Given the description of an element on the screen output the (x, y) to click on. 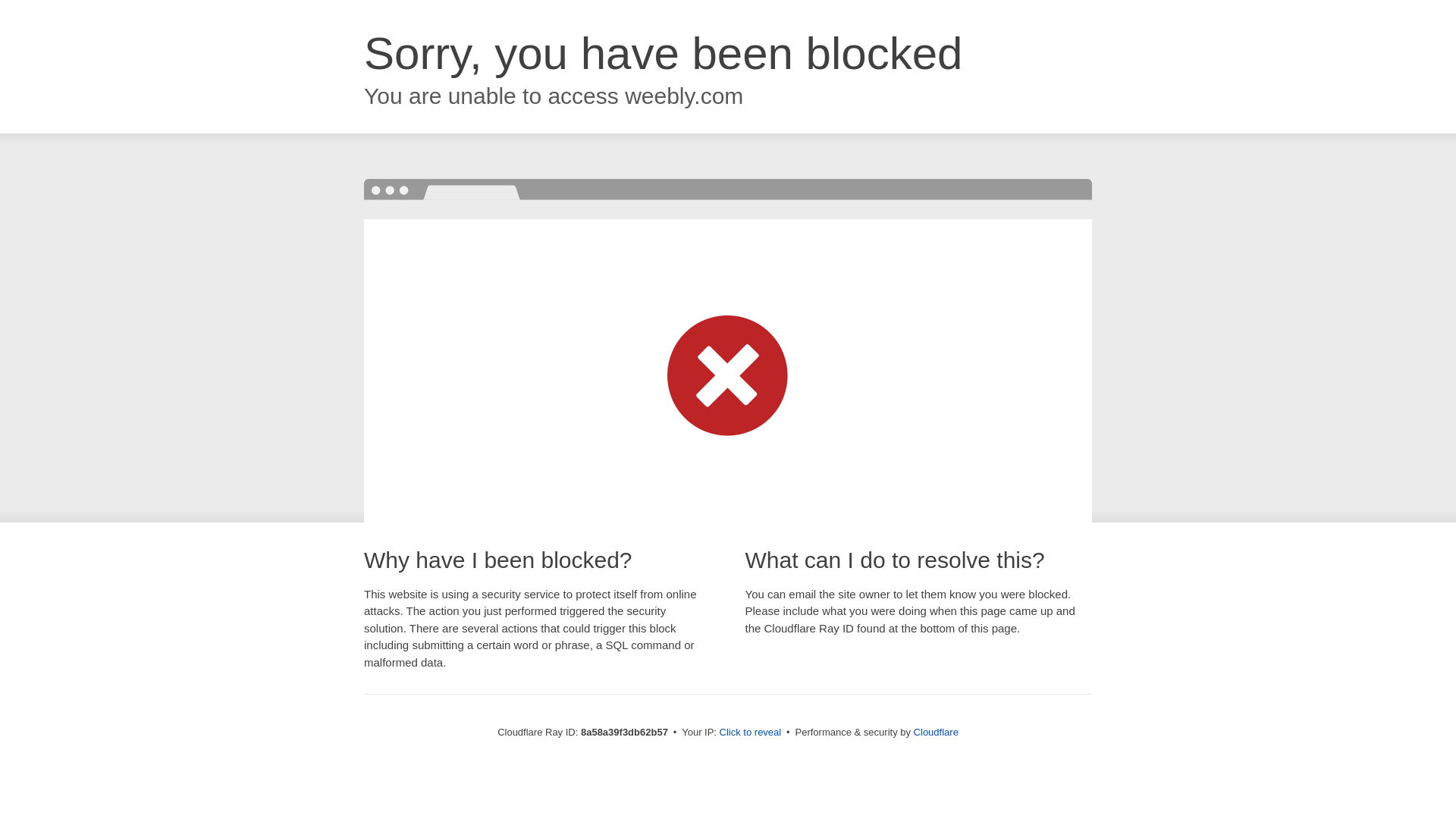
Click to reveal (750, 732)
Cloudflare (936, 731)
